Given the description of an element on the screen output the (x, y) to click on. 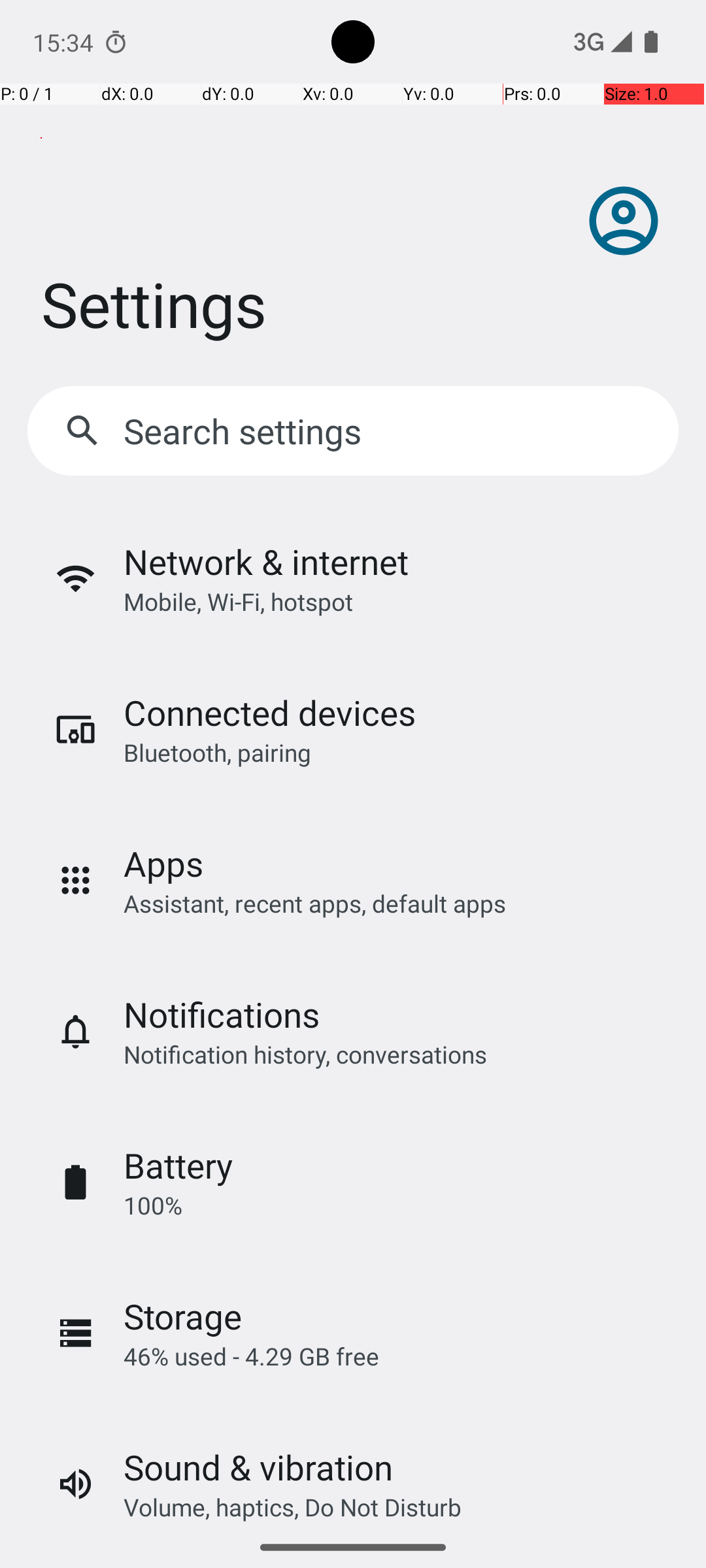
46% used - 4.29 GB free Element type: android.widget.TextView (251, 1355)
